Given the description of an element on the screen output the (x, y) to click on. 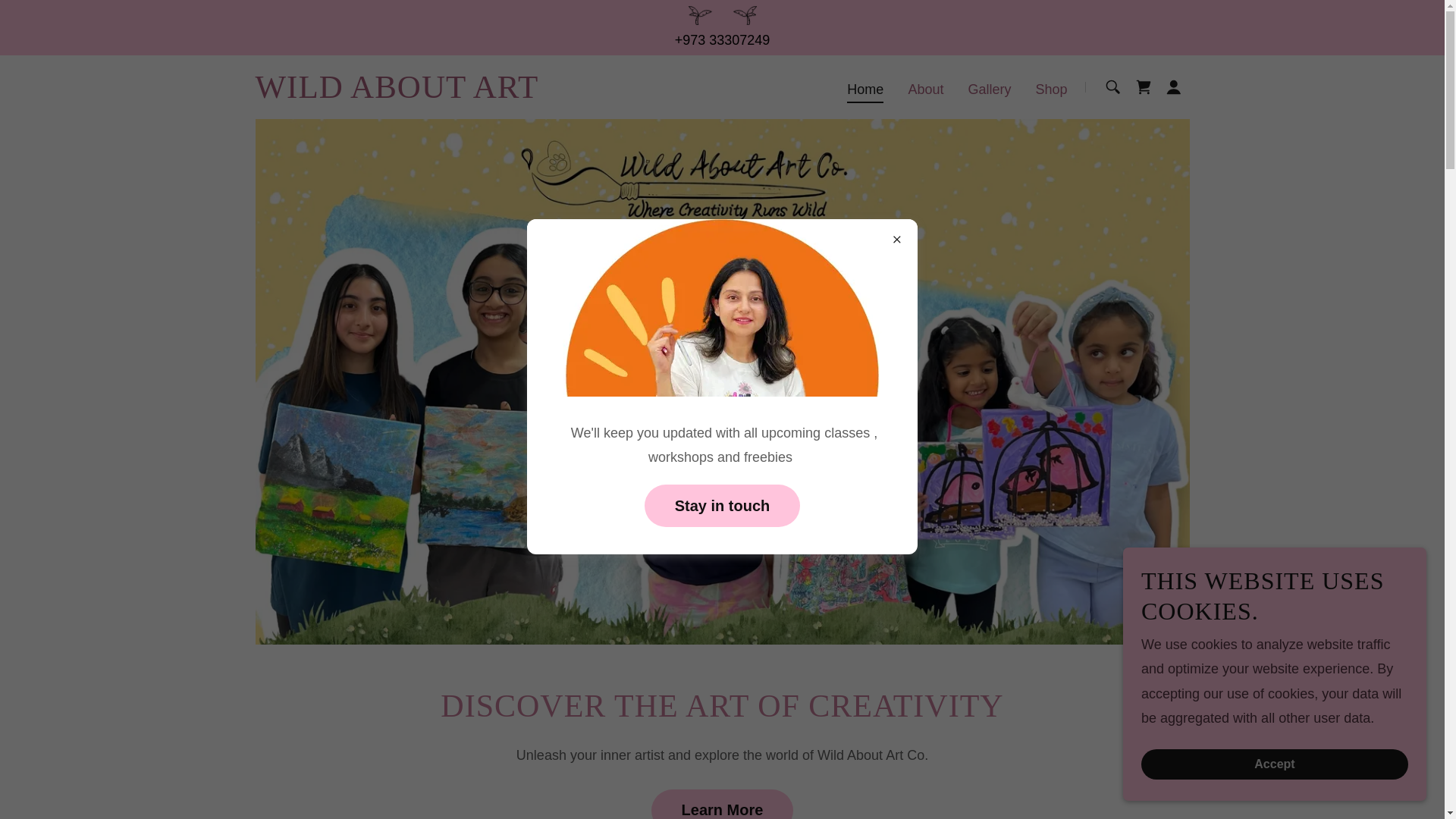
Home (865, 91)
WILD ABOUT ART (396, 92)
Gallery (988, 88)
Learn More (721, 804)
Shop (1050, 88)
Wild About Art  (396, 92)
About (924, 88)
